Given the description of an element on the screen output the (x, y) to click on. 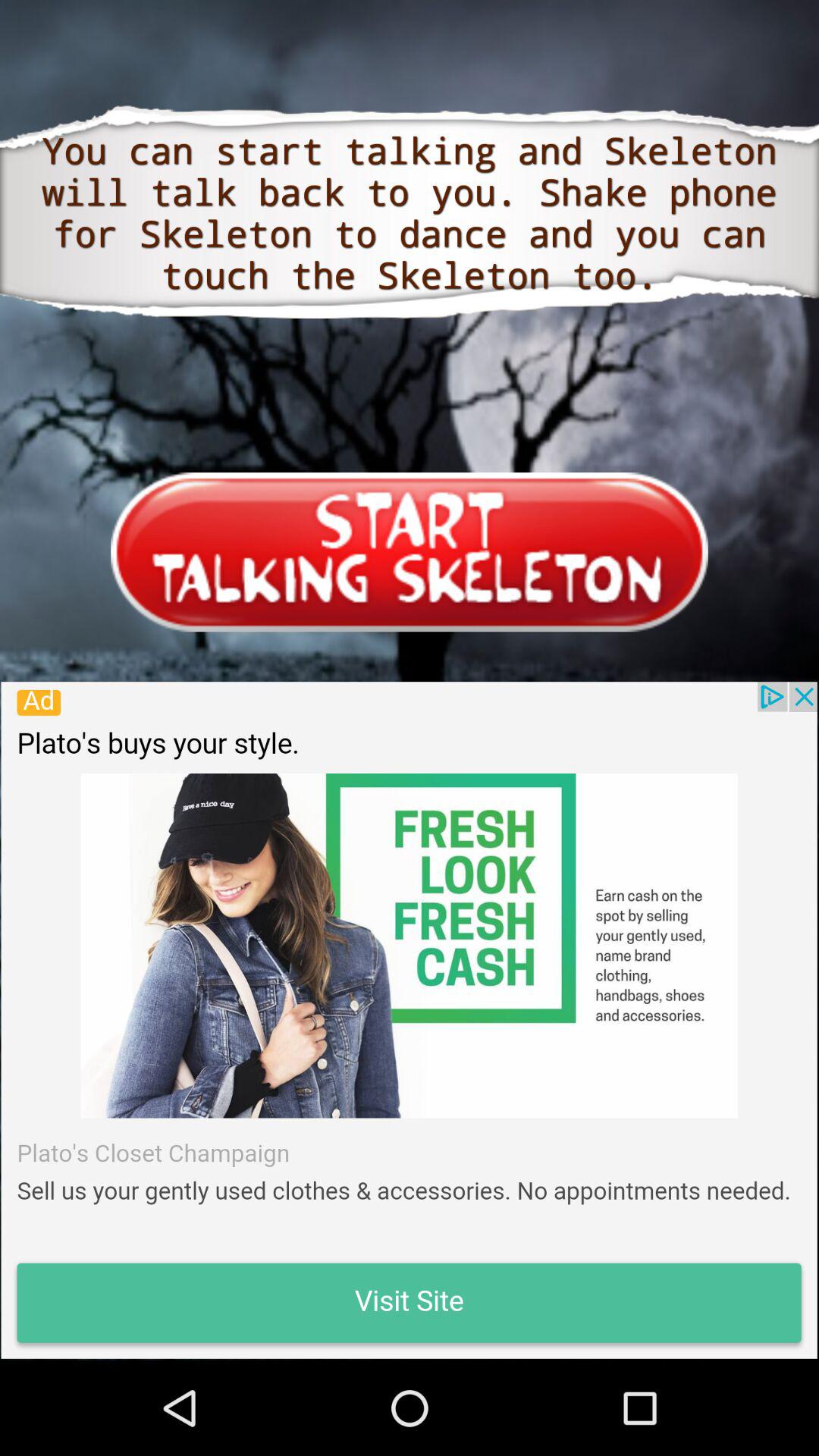
talk back app (409, 1019)
